Given the description of an element on the screen output the (x, y) to click on. 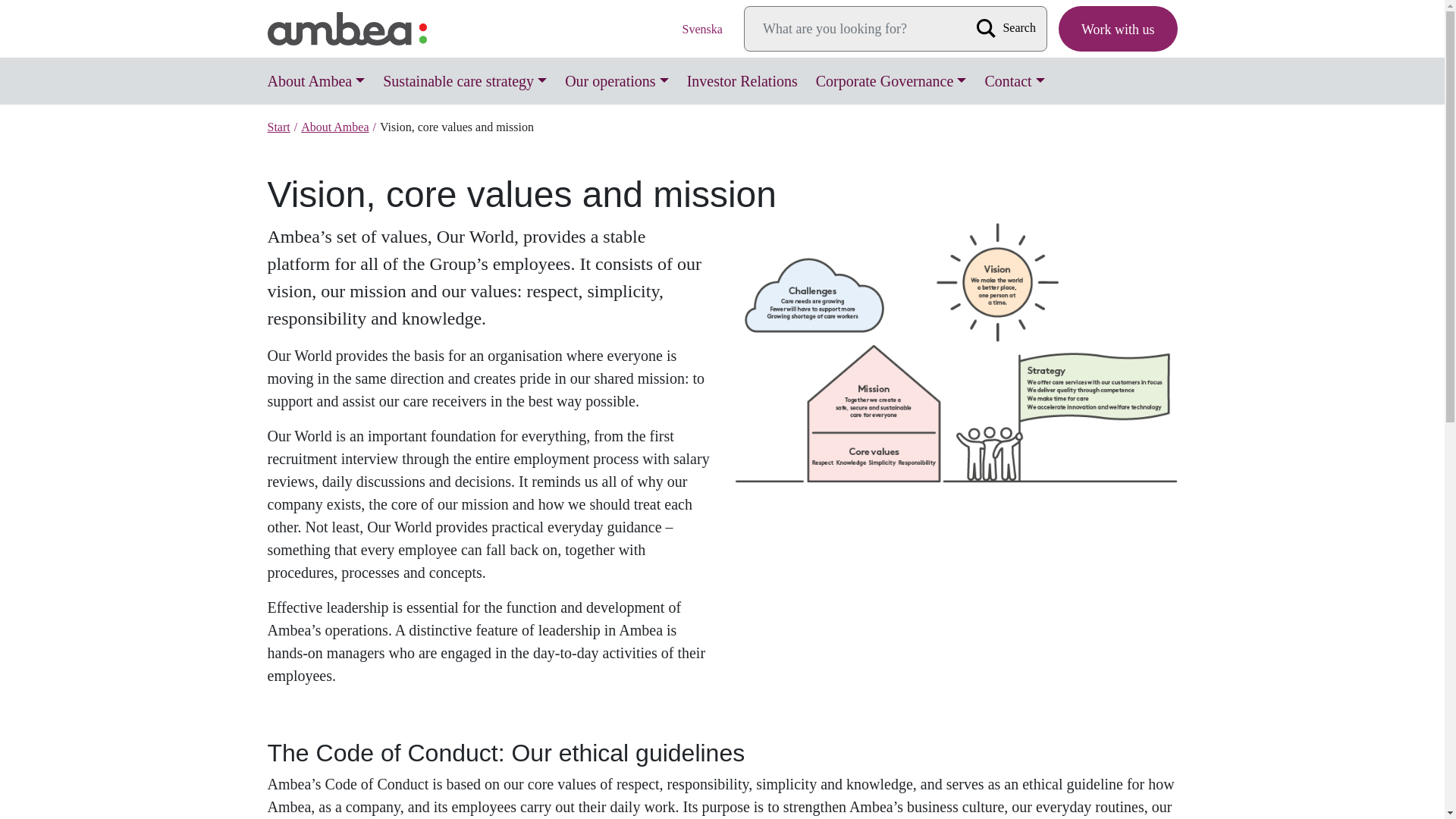
Search (1009, 27)
Work with us (1117, 28)
Search (1009, 27)
Our operations (617, 80)
Our operations (617, 80)
About Ambea (334, 126)
Sustainable care strategy (465, 80)
Sustainable care strategy (465, 80)
About Ambea (315, 80)
Work with us (1117, 28)
Start (277, 126)
Investor Relations (742, 80)
Svenska (702, 27)
Contact (1013, 80)
Search (1009, 27)
